Given the description of an element on the screen output the (x, y) to click on. 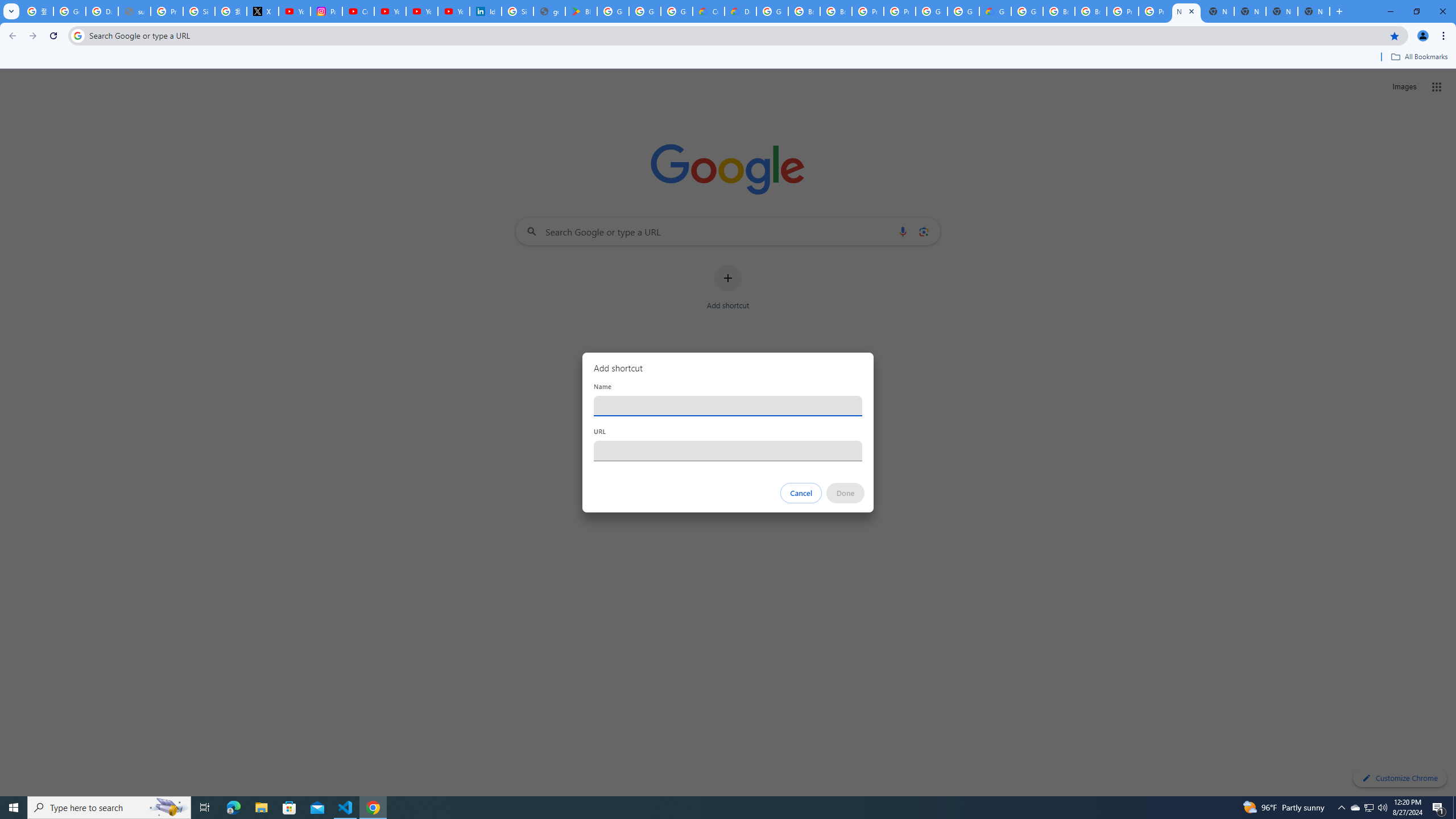
Google Cloud Estimate Summary (995, 11)
Customer Care | Google Cloud (708, 11)
Bookmarks (728, 58)
YouTube Culture & Trends - YouTube Top 10, 2021 (421, 11)
Cancel (801, 493)
Google Workspace - Specific Terms (676, 11)
